Given the description of an element on the screen output the (x, y) to click on. 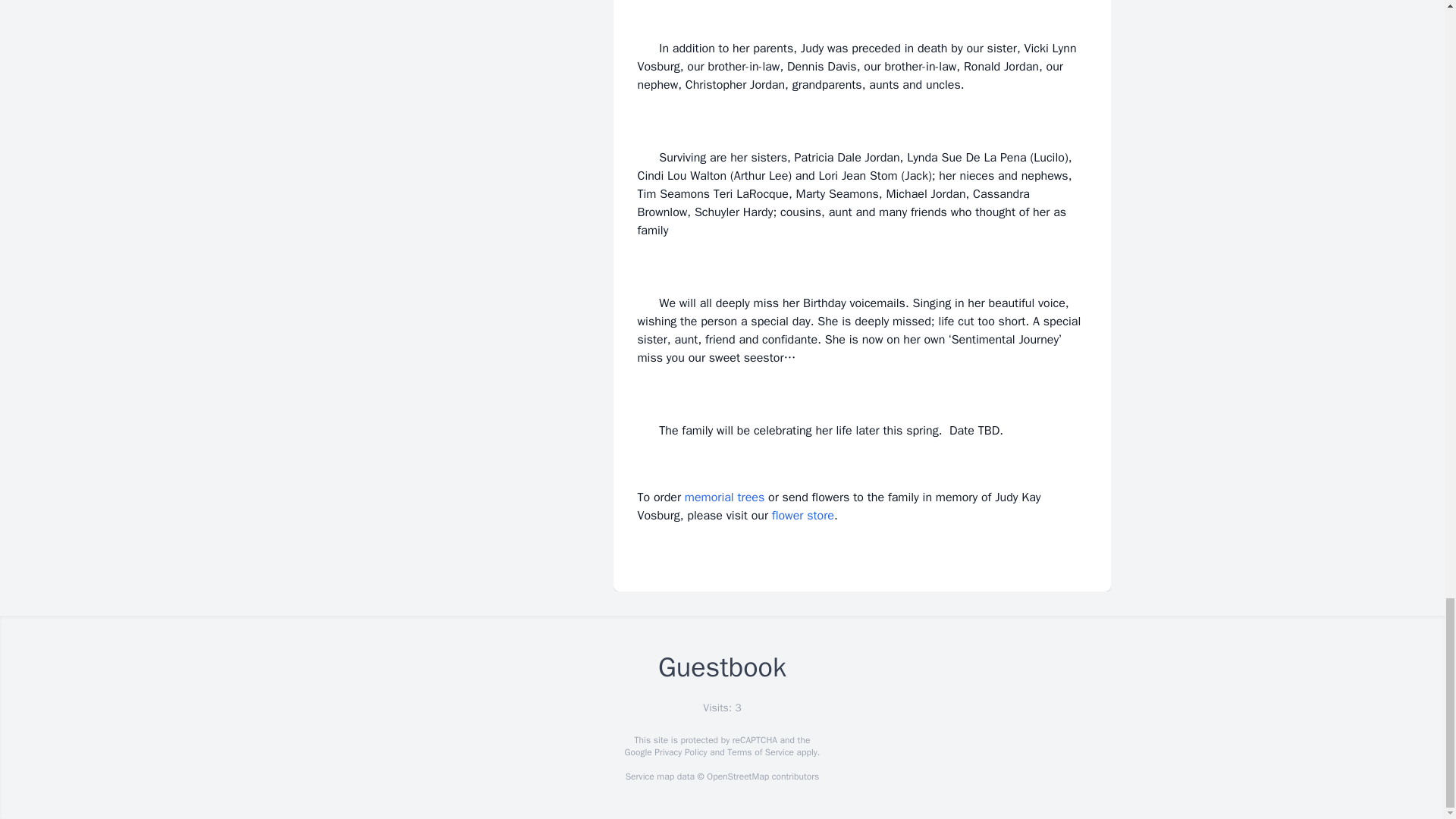
Terms of Service (759, 752)
OpenStreetMap (737, 776)
flower store (802, 515)
memorial trees (724, 497)
Privacy Policy (679, 752)
